Given the description of an element on the screen output the (x, y) to click on. 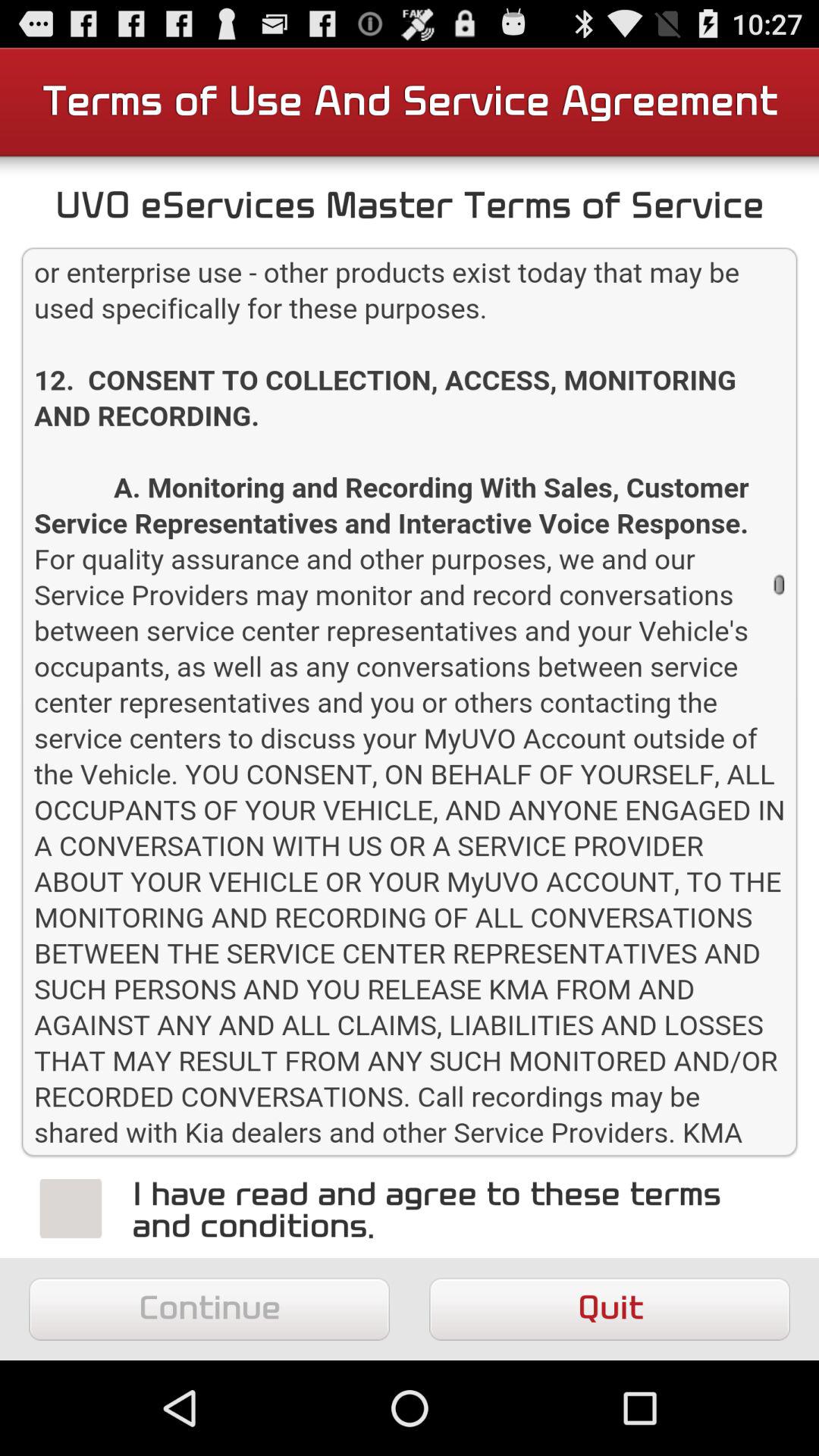
scroll information (409, 701)
